Given the description of an element on the screen output the (x, y) to click on. 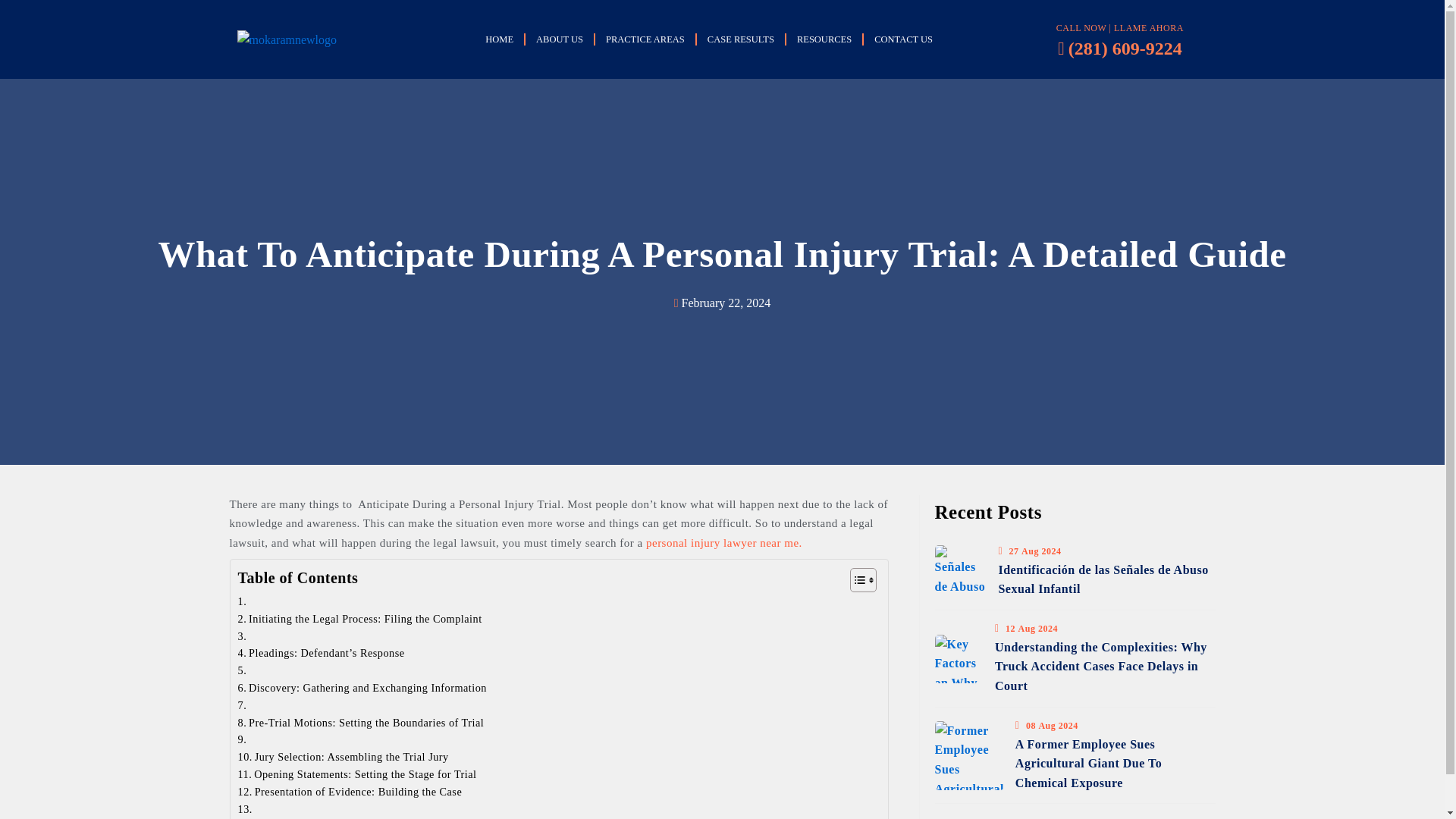
RESOURCES (823, 39)
CONTACT US (903, 39)
Opening Statements: Setting the Stage for Trial (357, 773)
Pre-Trial Motions: Setting the Boundaries of Trial (361, 723)
PRACTICE AREAS (645, 39)
CASE RESULTS (740, 39)
Jury Selection: Assembling the Trial Jury (343, 756)
Presentation of Evidence: Building the Case (350, 791)
HOME (499, 39)
